Given the description of an element on the screen output the (x, y) to click on. 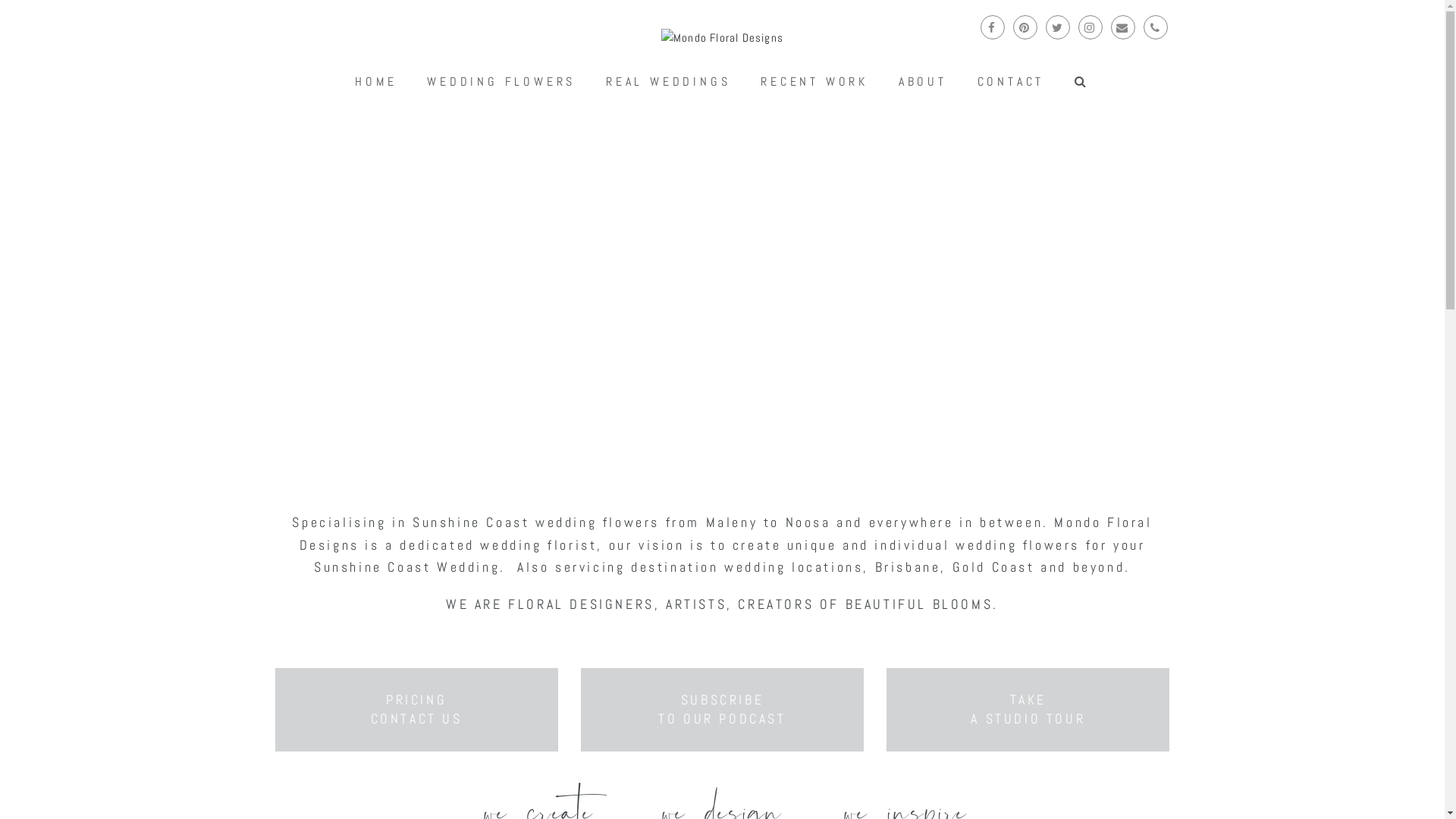
Twitter Element type: text (1056, 27)
Pinterest Element type: text (1025, 27)
Facebook Element type: text (991, 27)
RECENT WORK Element type: text (813, 81)
REAL WEDDINGS Element type: text (667, 81)
TAKE
A STUDIO TOUR Element type: text (1027, 708)
PRICING
CONTACT US Element type: text (416, 708)
CONTACT Element type: text (1010, 81)
ABOUT Element type: text (922, 81)
Phone Element type: text (1155, 27)
Instagram Element type: text (1090, 27)
WEDDING FLOWERS Element type: text (501, 81)
SUBSCRIBE
TO OUR PODCAST Element type: text (721, 708)
Email Element type: text (1122, 27)
HOME Element type: text (375, 81)
